Given the description of an element on the screen output the (x, y) to click on. 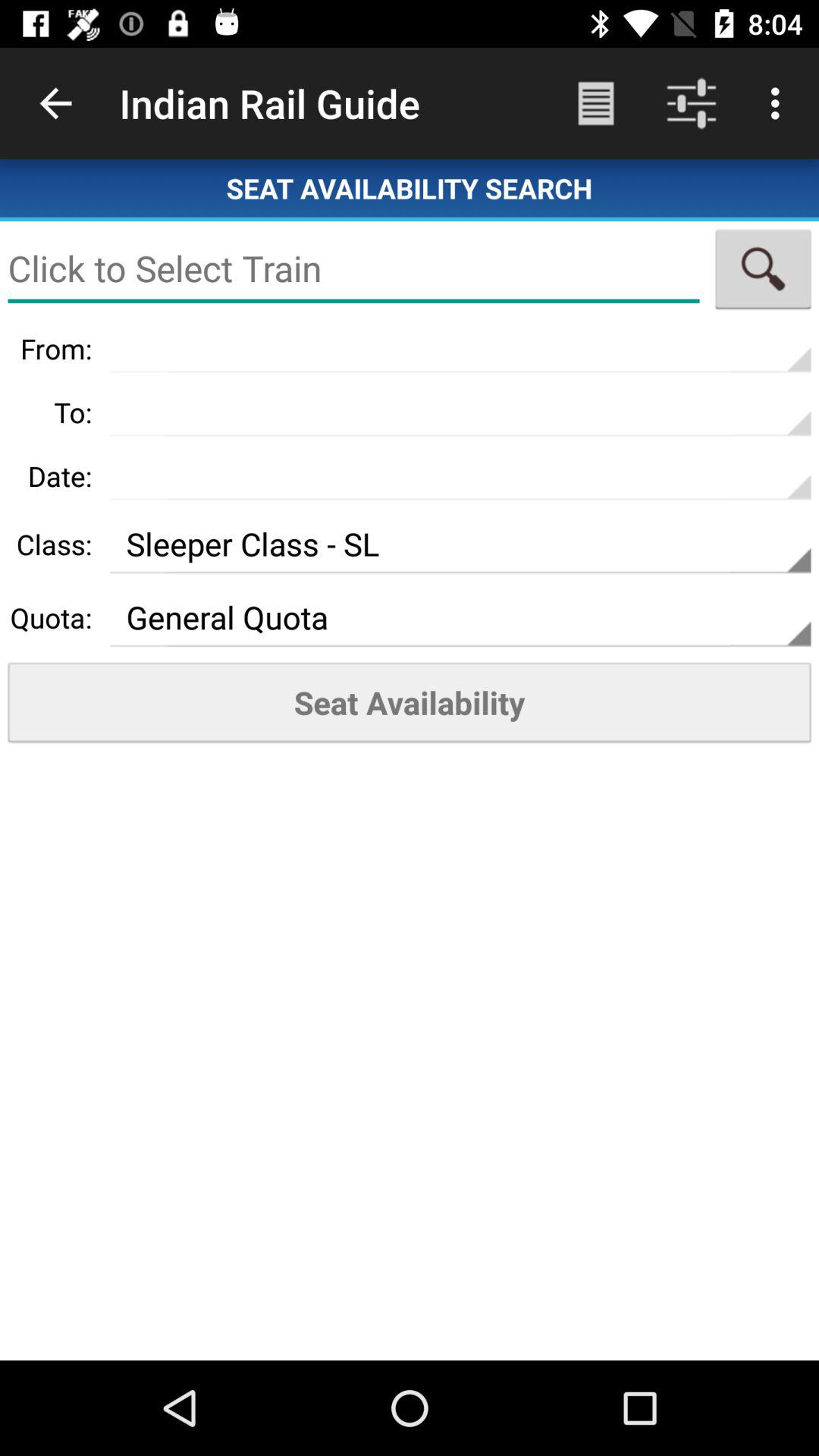
search train (763, 268)
